Given the description of an element on the screen output the (x, y) to click on. 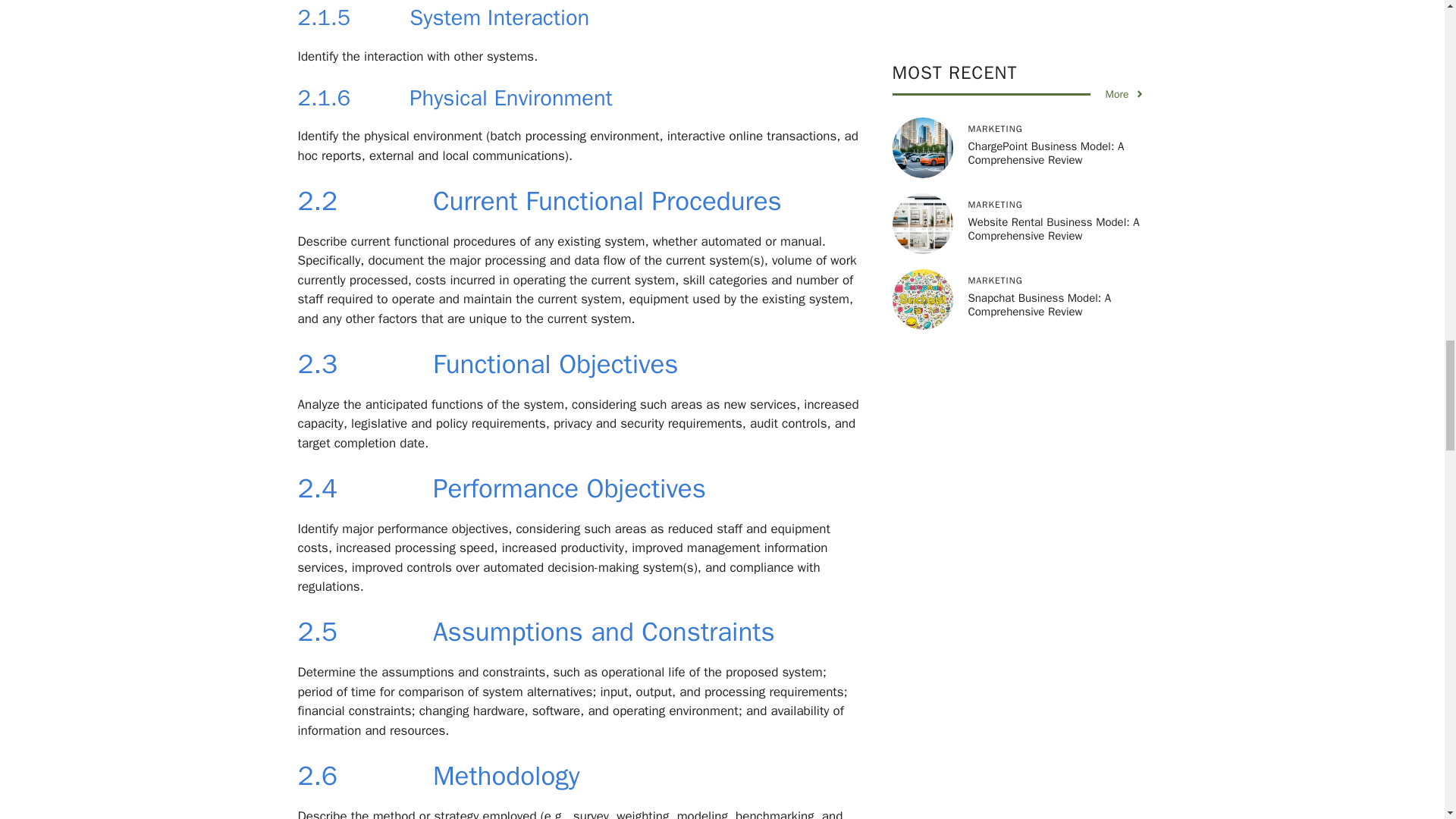
2.2            Current Functional Procedures (538, 200)
2.1.6         Physical Environment (454, 98)
2.1.5         System Interaction (443, 17)
